Given the description of an element on the screen output the (x, y) to click on. 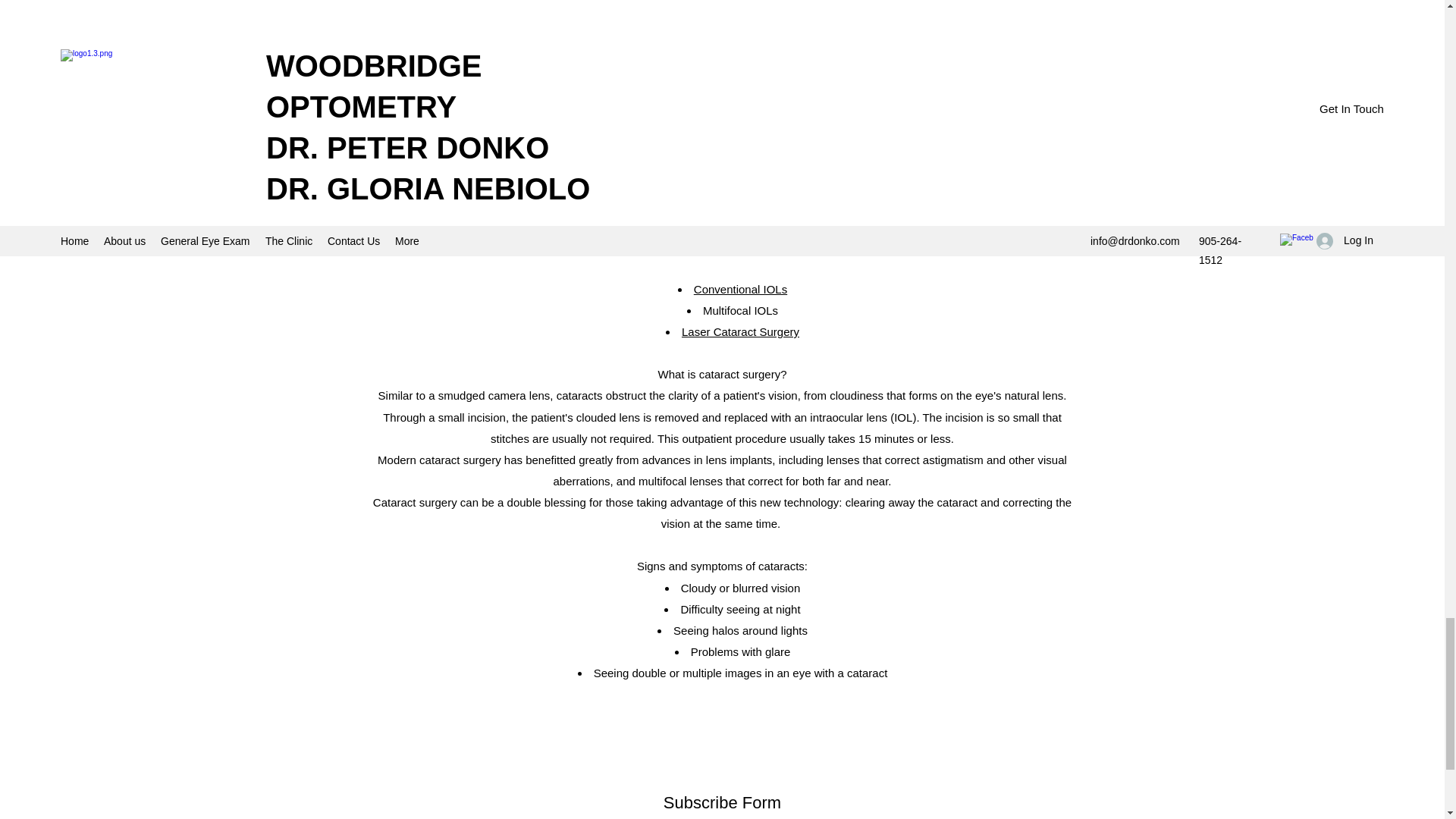
Conventional IOLs (740, 288)
 laser eye surgery team (800, 75)
Laser Cataract Surgery (740, 331)
